Given the description of an element on the screen output the (x, y) to click on. 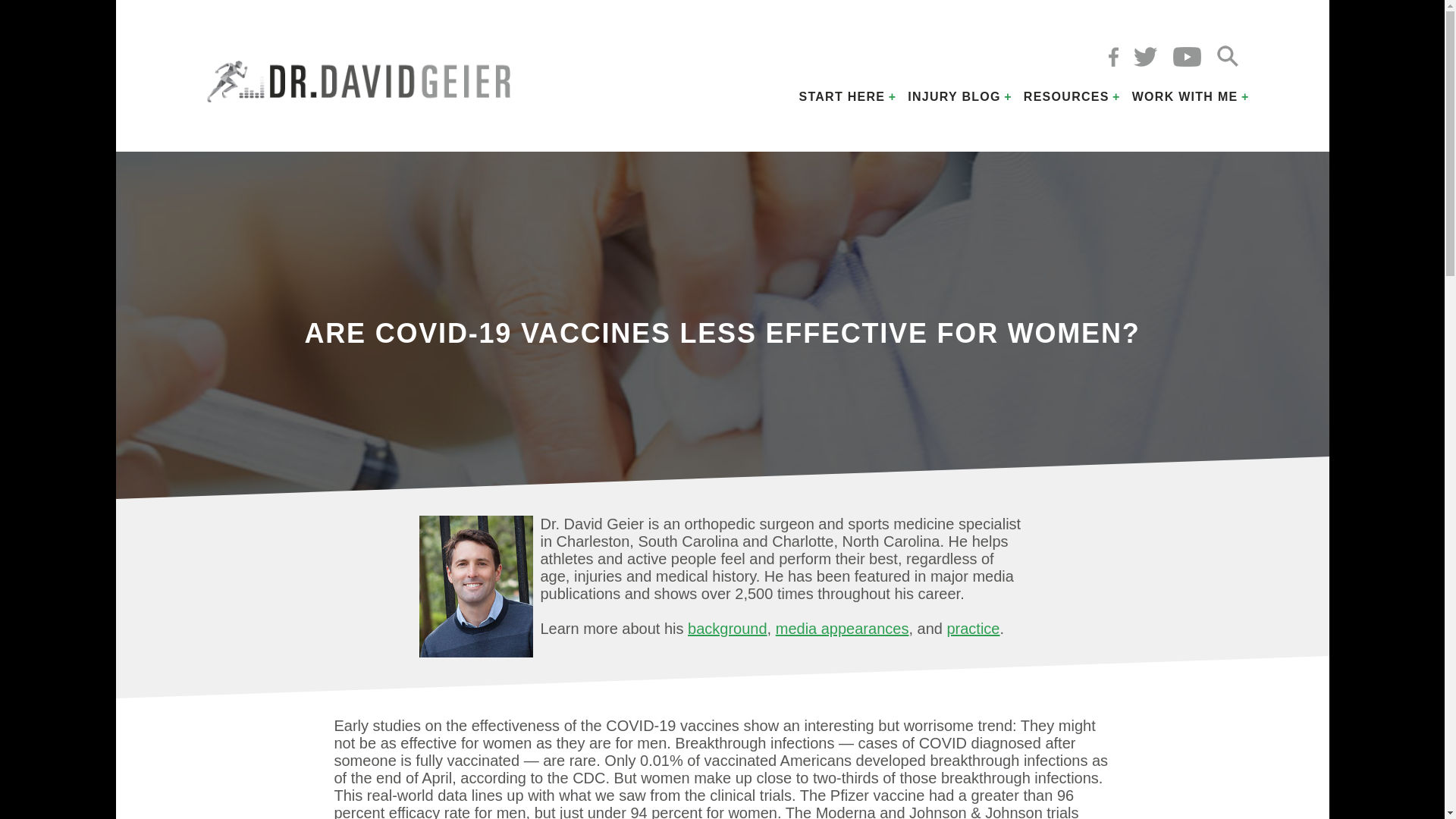
INJURY BLOG (954, 96)
practice (972, 628)
START HERE (841, 96)
background (727, 628)
media appearances (842, 628)
WORK WITH ME (1185, 96)
RESOURCES (1066, 96)
